Given the description of an element on the screen output the (x, y) to click on. 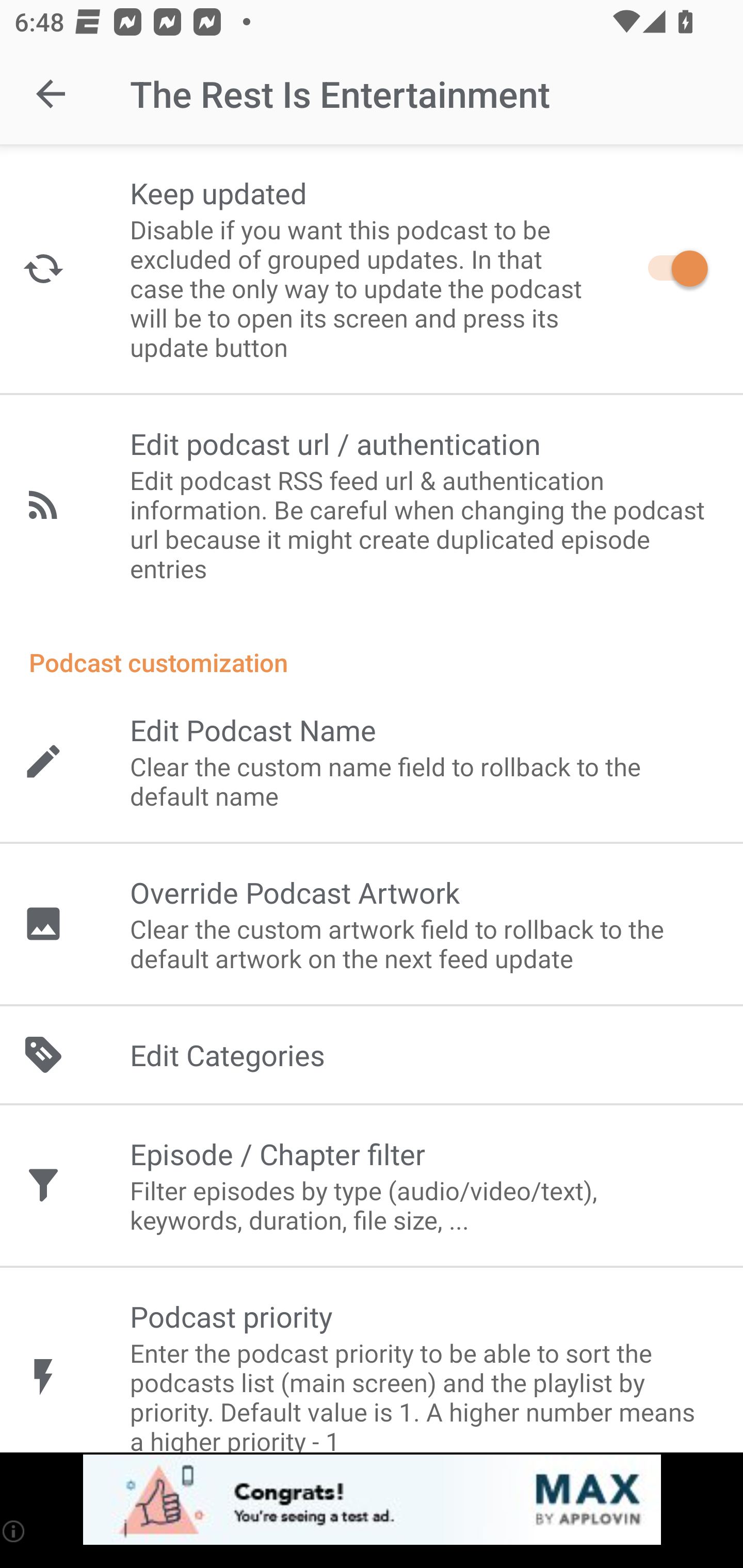
Navigate up (50, 93)
Edit Categories (371, 1054)
app-monetization (371, 1500)
(i) (14, 1531)
